Given the description of an element on the screen output the (x, y) to click on. 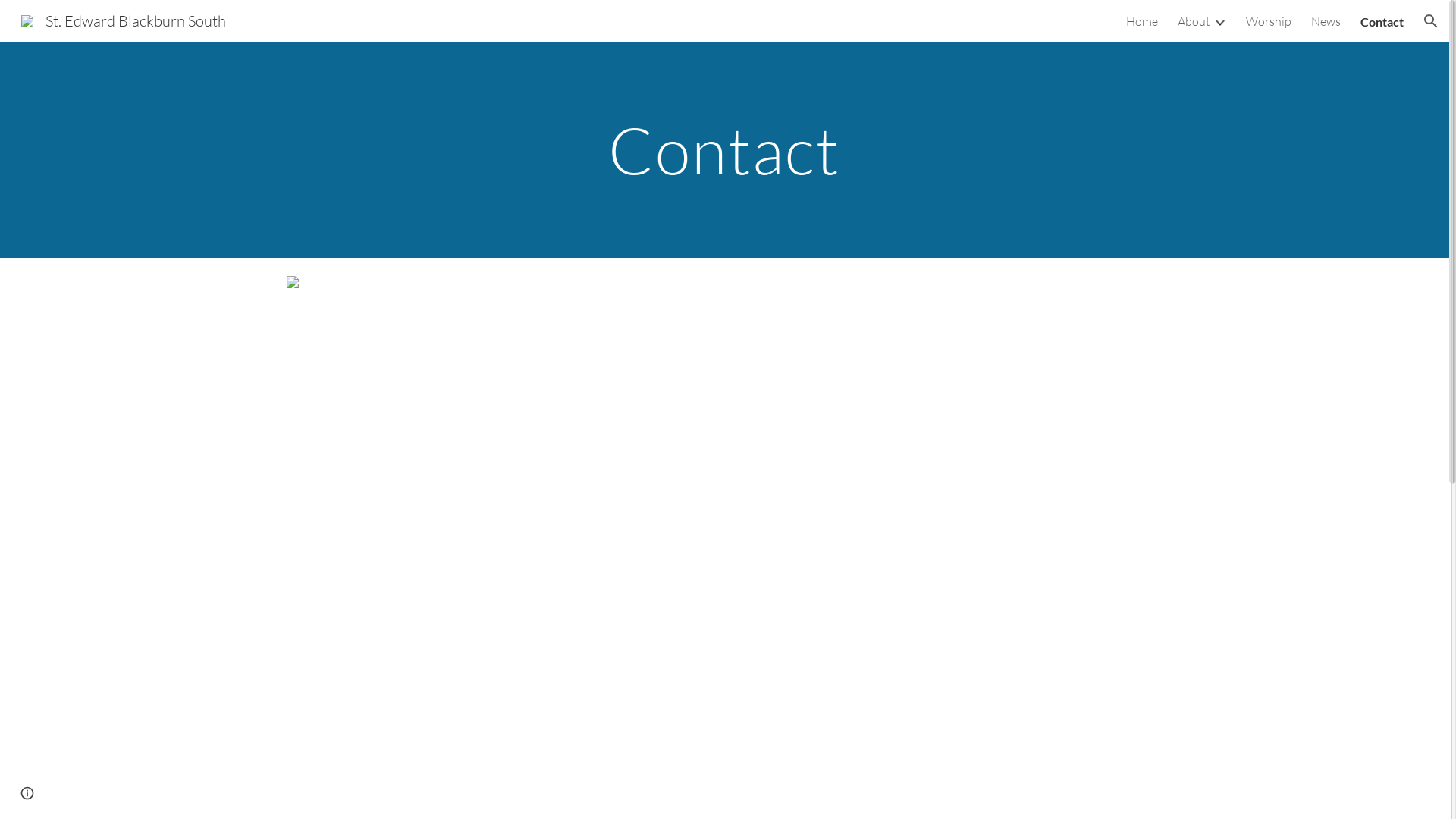
Home Element type: text (1141, 20)
About Element type: text (1193, 20)
News Element type: text (1325, 20)
St. Edward Blackburn South Element type: text (123, 18)
Contact Element type: text (1381, 20)
Expand/Collapse Element type: hover (1219, 20)
Worship Element type: text (1268, 20)
